Given the description of an element on the screen output the (x, y) to click on. 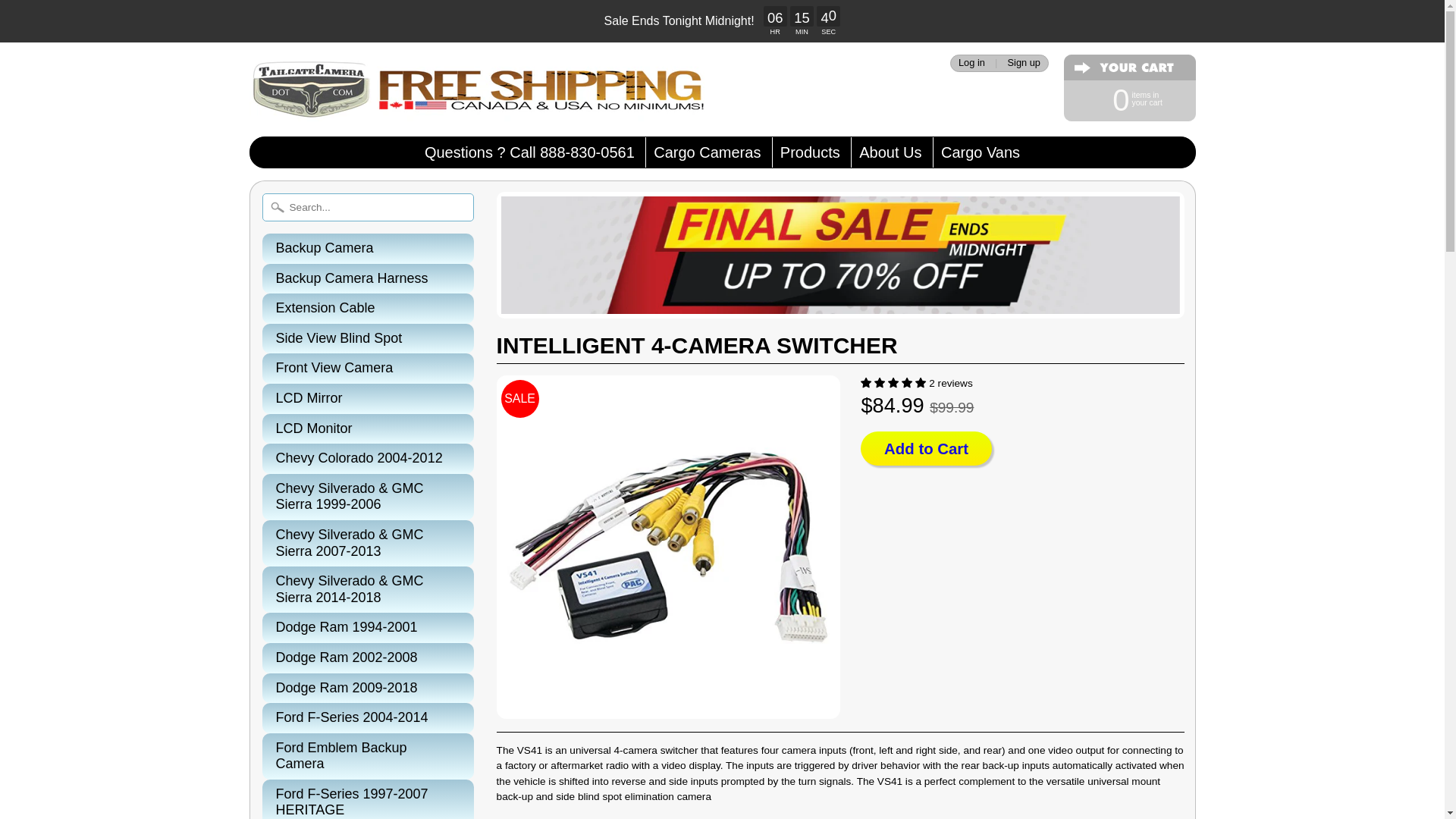
Ford F-Series 1997-2007 HERITAGE (1122, 98)
Backup Camera Harness (368, 799)
Products (368, 278)
LCD Monitor (810, 152)
Ford F-Series 2004-2014 (368, 429)
Dodge Ram 1994-2001 (368, 717)
Dodge Ram 2009-2018 (368, 627)
About Us (368, 688)
Backup Camera (889, 152)
Front View Camera (368, 248)
Cargo Cameras (368, 368)
Extension Cable (707, 152)
Tailgatecamera.com (368, 308)
Sign up (475, 100)
